Given the description of an element on the screen output the (x, y) to click on. 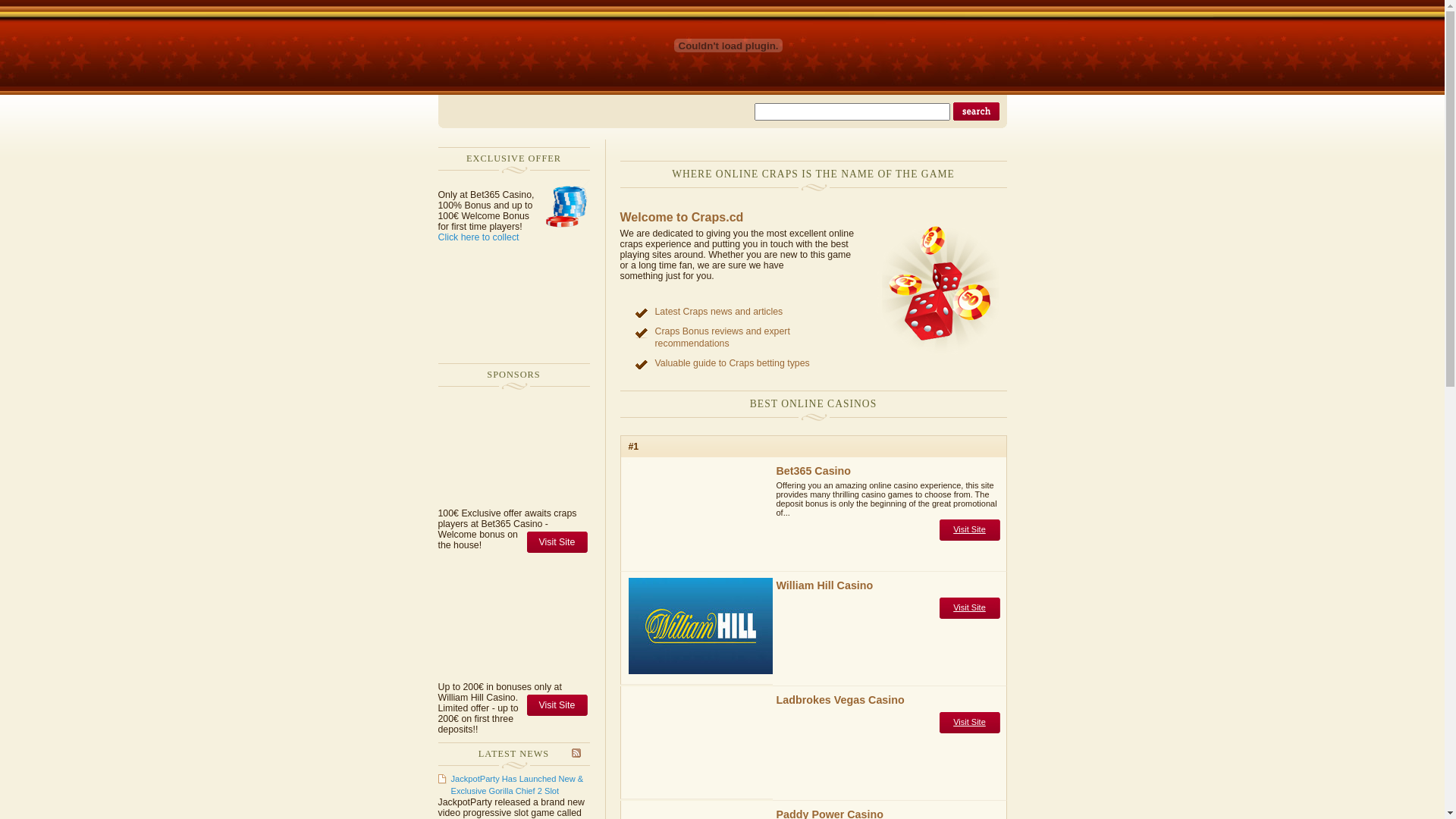
Visit Site Element type: text (969, 721)
Visit Site Element type: text (969, 528)
Visit Site Element type: text (969, 606)
Click here to collect Element type: text (478, 237)
